Given the description of an element on the screen output the (x, y) to click on. 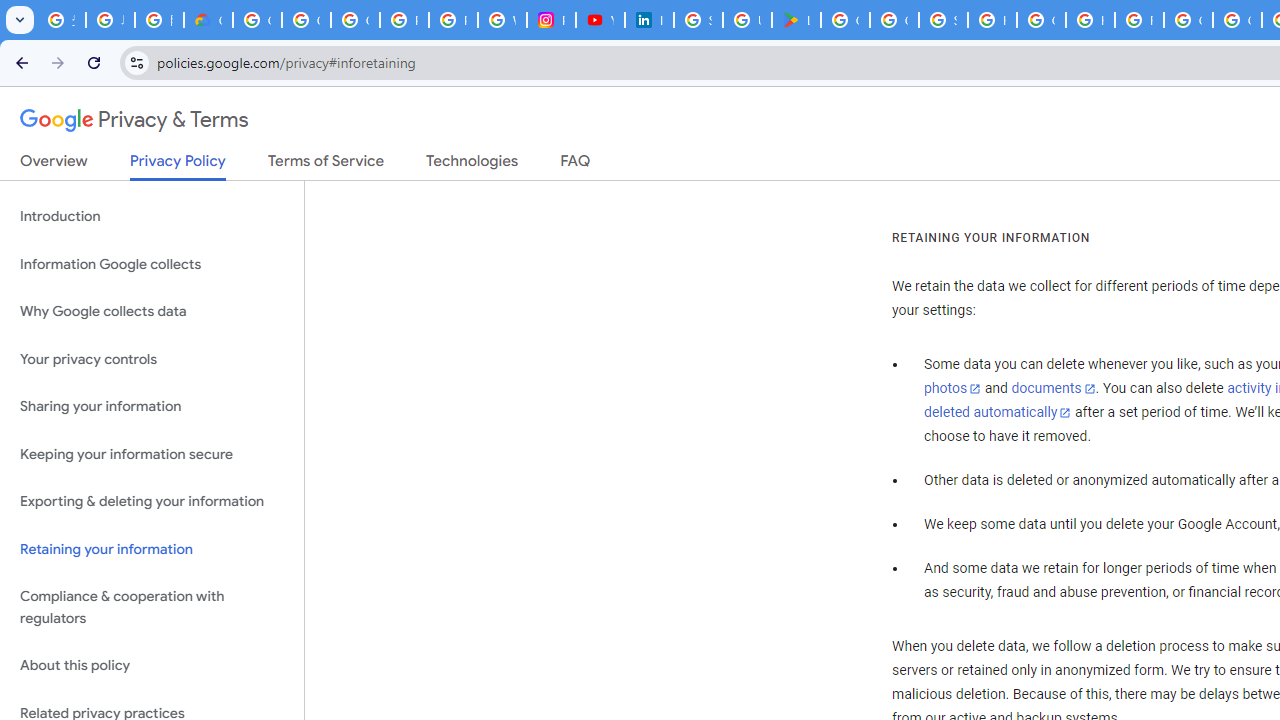
Compliance & cooperation with regulators (152, 607)
Retaining your information (152, 548)
How do I create a new Google Account? - Google Account Help (1090, 20)
Terms of Service (326, 165)
FAQ (575, 165)
photos (952, 389)
Last Shelter: Survival - Apps on Google Play (795, 20)
Technologies (472, 165)
